Given the description of an element on the screen output the (x, y) to click on. 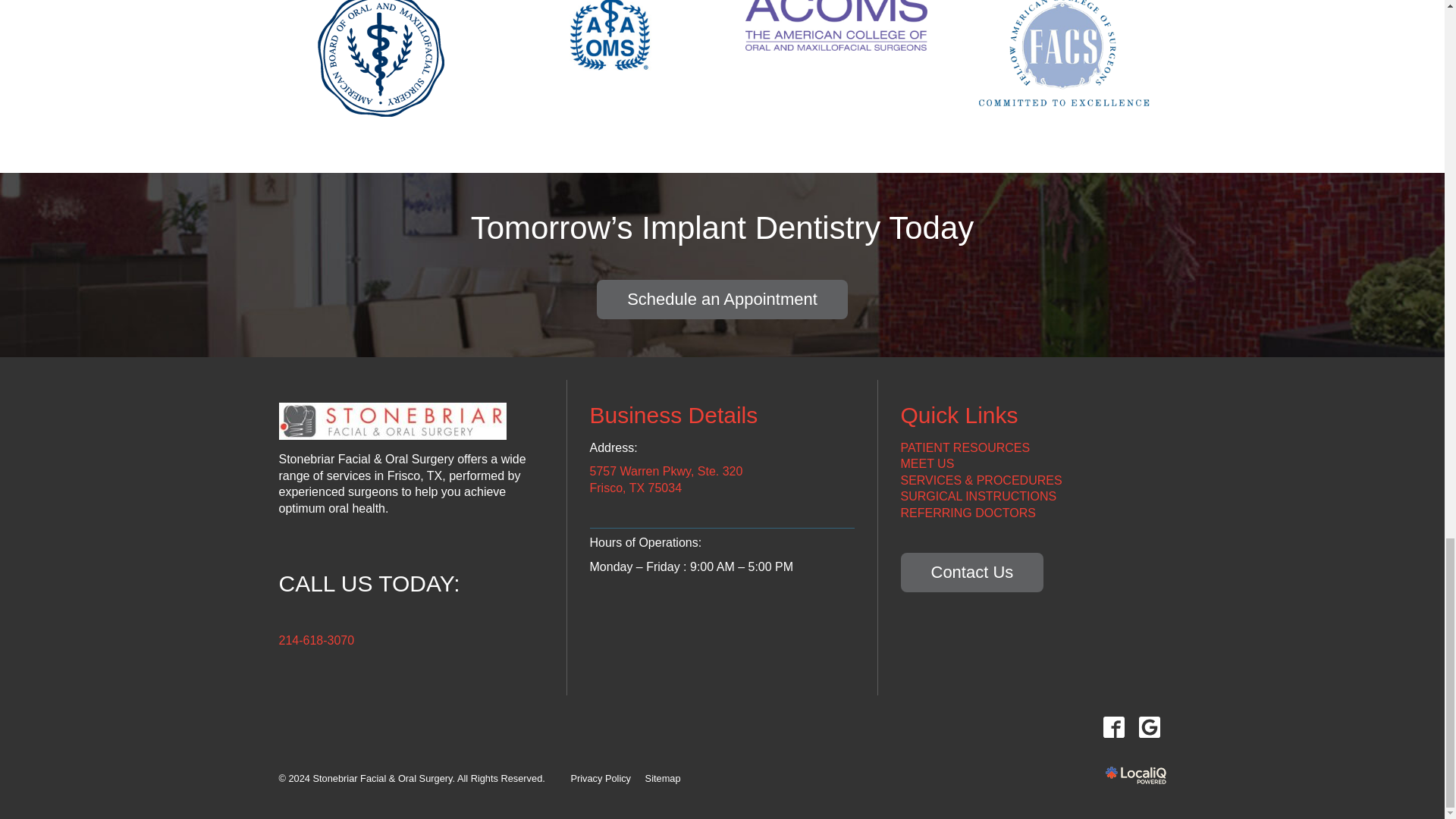
facebook (1113, 726)
google (1149, 726)
